Given the description of an element on the screen output the (x, y) to click on. 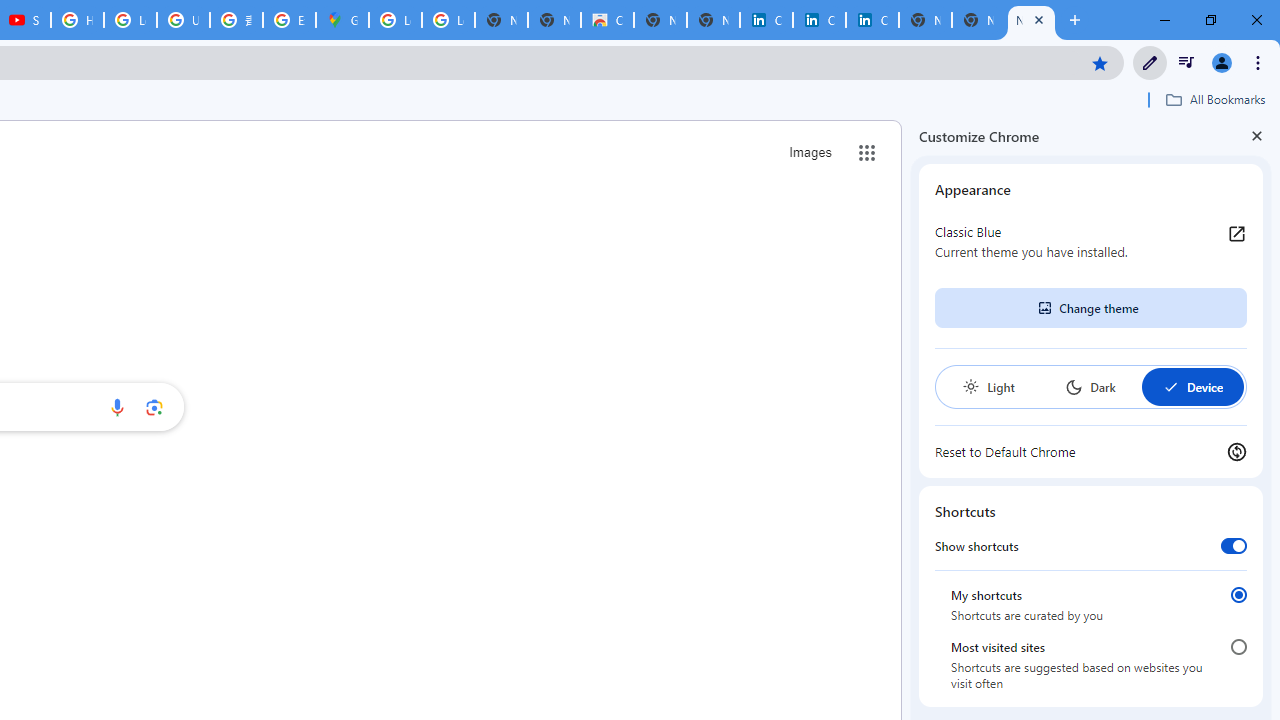
Change theme (1090, 308)
Cookie Policy | LinkedIn (819, 20)
Google Maps (342, 20)
Device (1192, 386)
How Chrome protects your passwords - Google Chrome Help (77, 20)
Cookie Policy | LinkedIn (766, 20)
